Given the description of an element on the screen output the (x, y) to click on. 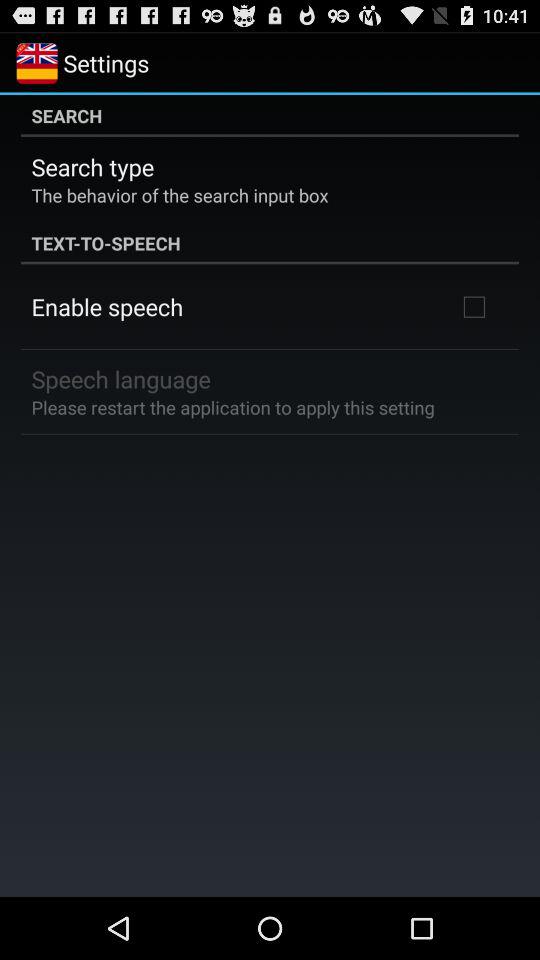
choose the app below the the behavior of (270, 243)
